Given the description of an element on the screen output the (x, y) to click on. 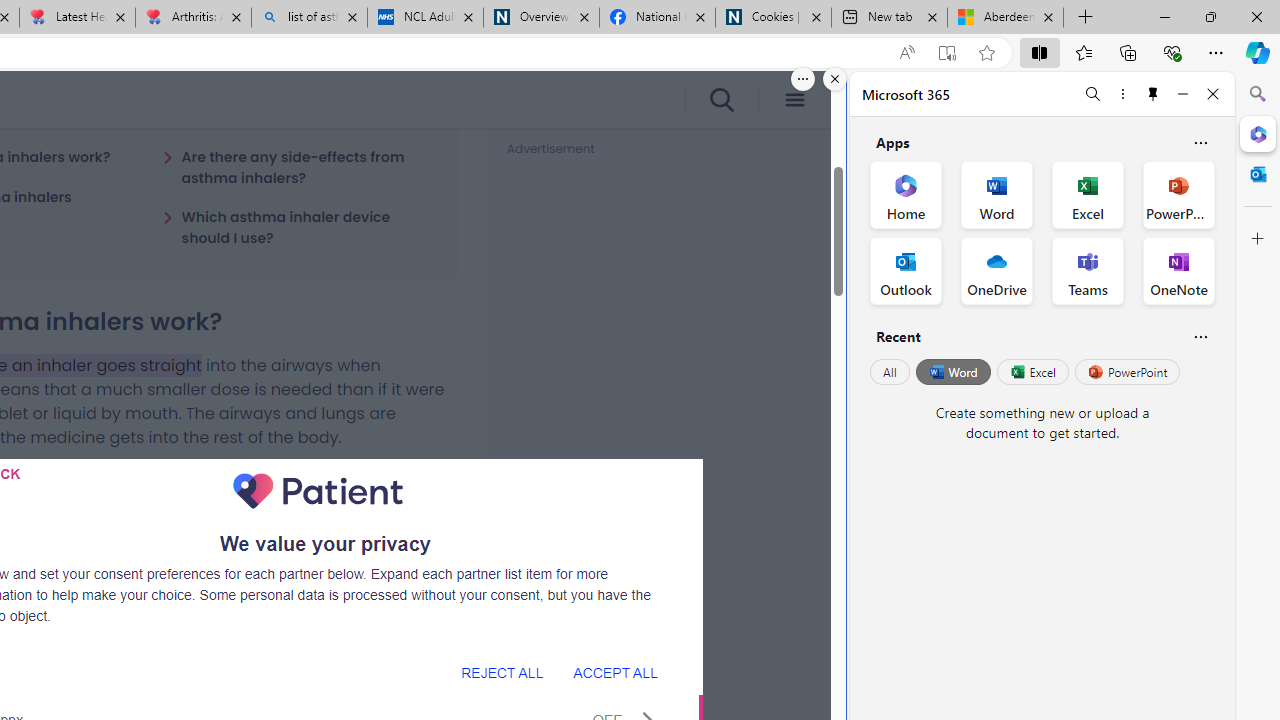
menu icon (793, 99)
Word (952, 372)
Excel Office App (1087, 194)
Are there any side-effects from asthma inhalers? (298, 167)
Publisher Logo (317, 491)
Home Office App (906, 194)
Outlook Office App (906, 270)
